Given the description of an element on the screen output the (x, y) to click on. 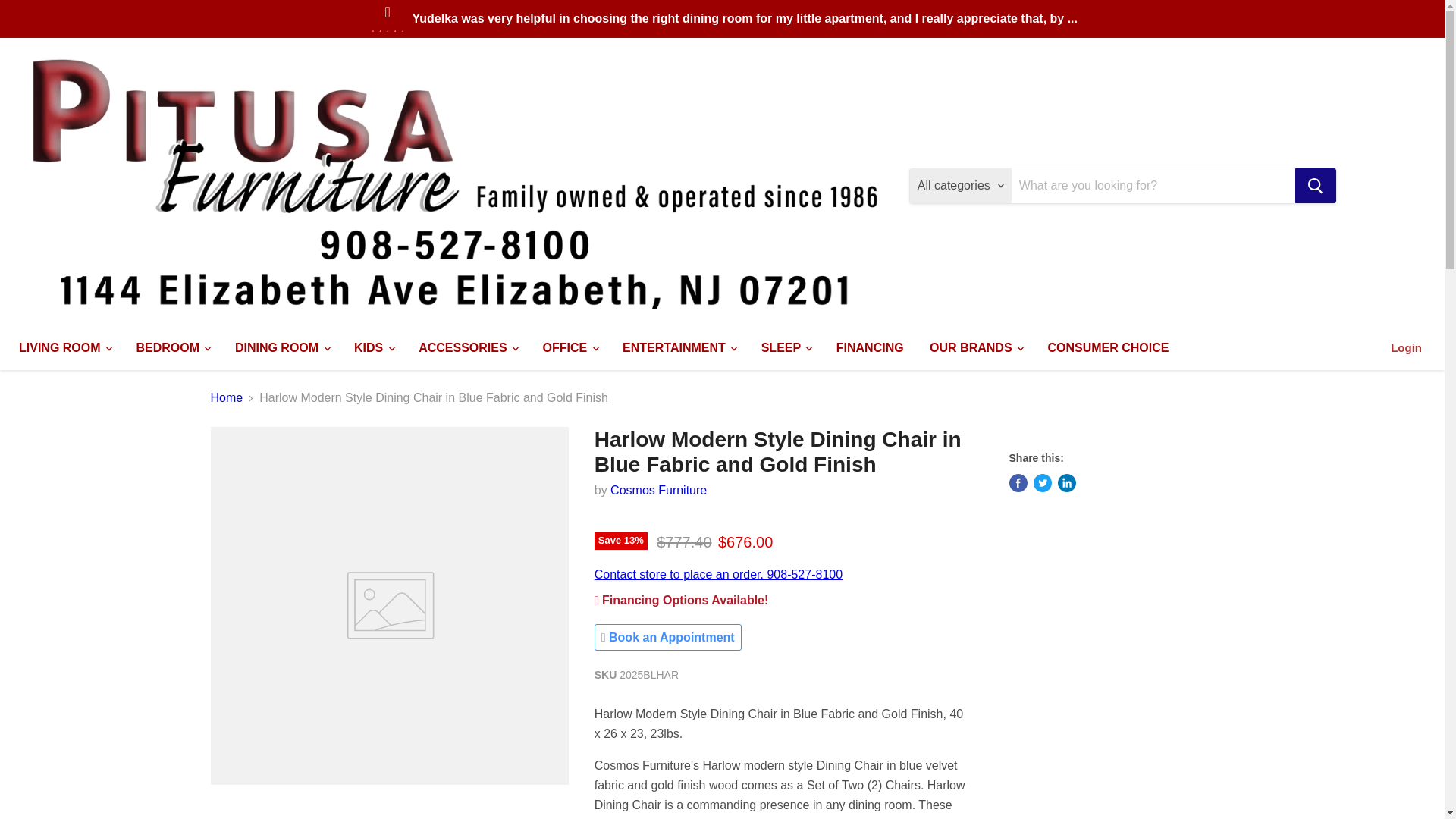
Cosmos Furniture (658, 490)
LIVING ROOM (63, 347)
BEDROOM (171, 347)
